Given the description of an element on the screen output the (x, y) to click on. 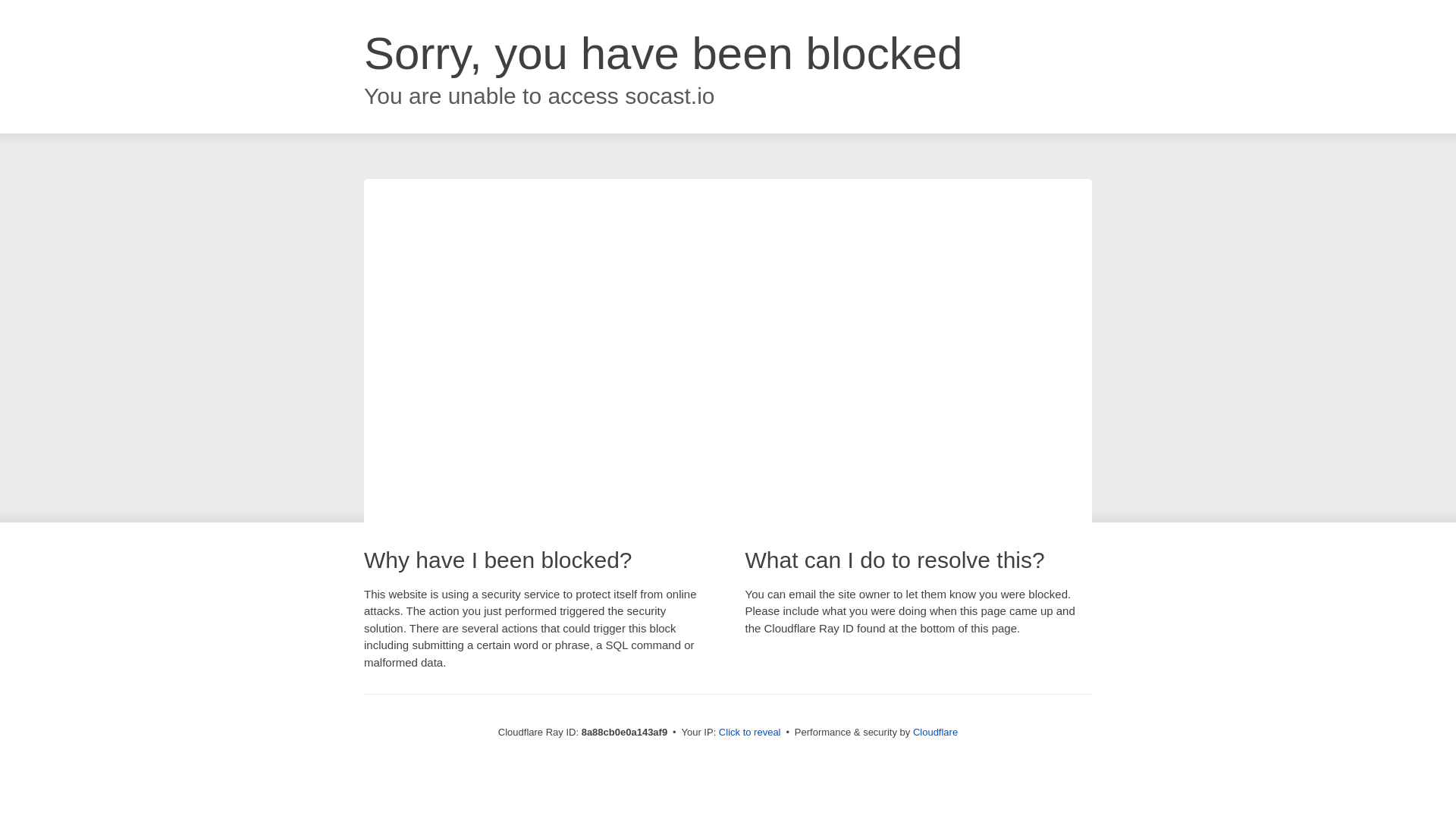
Click to reveal (749, 732)
Cloudflare (935, 731)
